Given the description of an element on the screen output the (x, y) to click on. 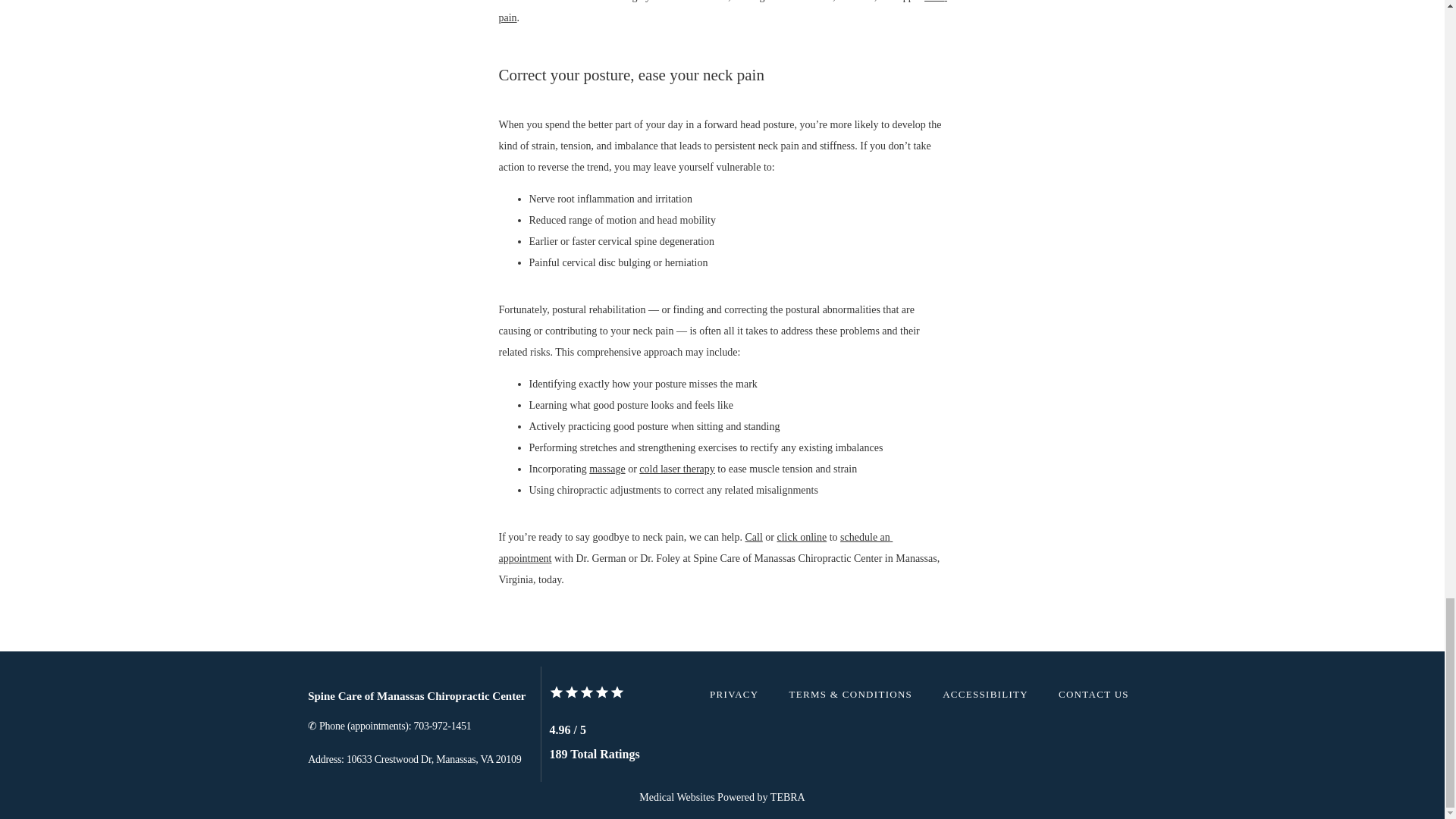
click online (802, 536)
Call (752, 536)
schedule an appointment (696, 547)
PRIVACY (734, 694)
cold laser therapy (676, 469)
massage (606, 469)
ACCESSIBILITY (984, 694)
CONTACT US (1093, 694)
back pain (723, 11)
